Given the description of an element on the screen output the (x, y) to click on. 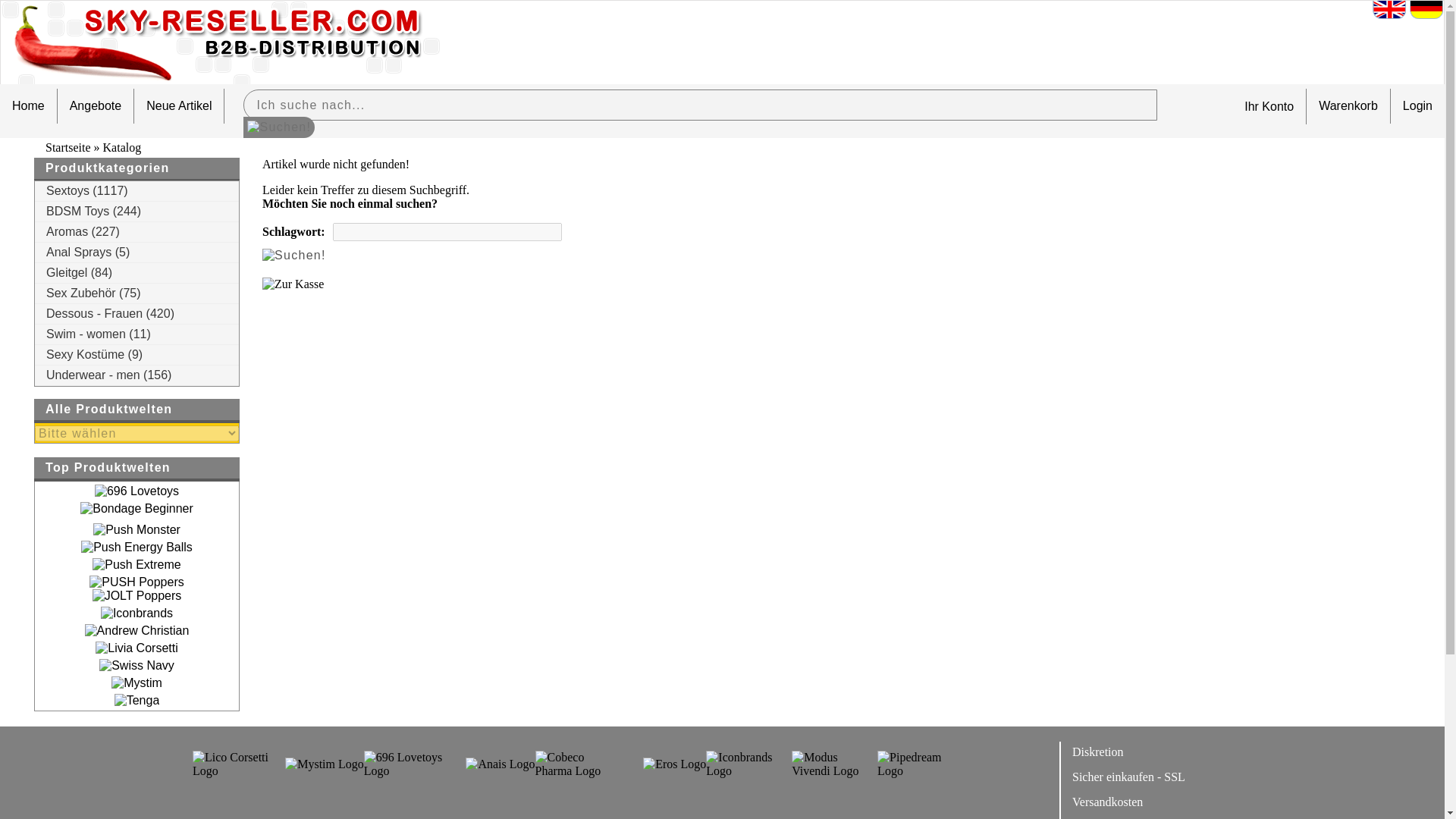
Katalog (122, 146)
 English  (1389, 9)
 Suchen!  (294, 255)
Home (28, 105)
Neue Artikel (178, 105)
Warenkorb (1348, 105)
Ihr Konto (1261, 106)
Angebote (95, 105)
 Zur Kasse  (292, 284)
 Suchen!  (278, 127)
